Given the description of an element on the screen output the (x, y) to click on. 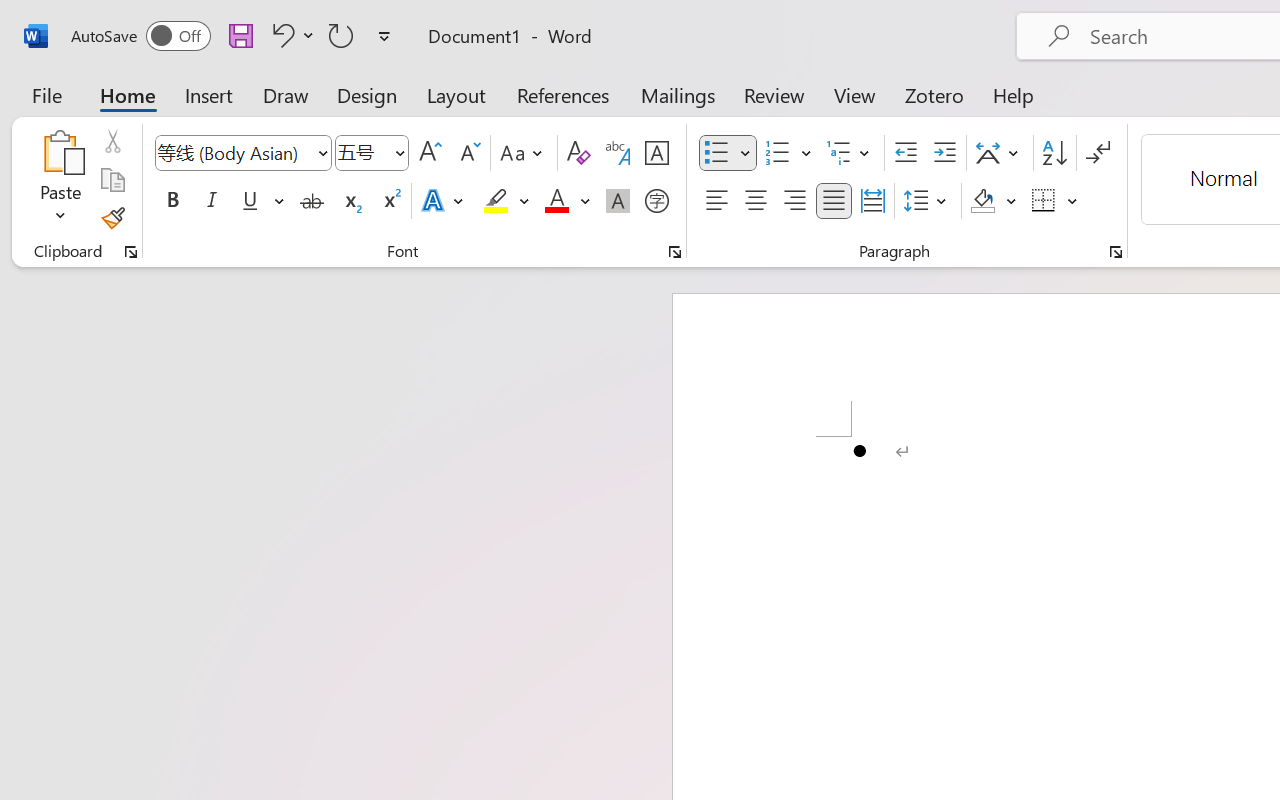
Repeat Bullet Default (341, 35)
